Given the description of an element on the screen output the (x, y) to click on. 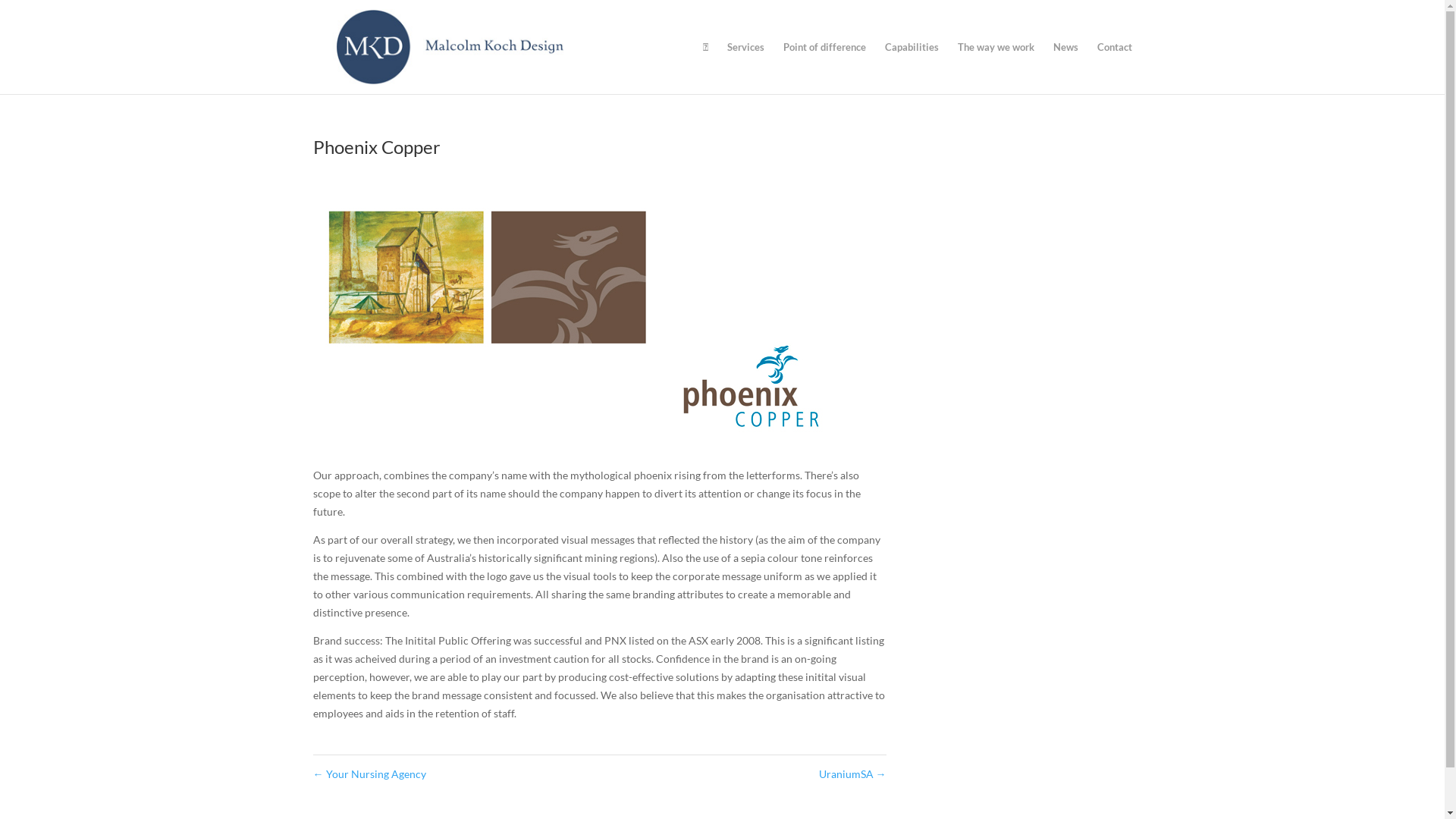
News Element type: text (1064, 67)
Contact Element type: text (1113, 67)
Services Element type: text (744, 67)
The way we work Element type: text (995, 67)
Capabilities Element type: text (911, 67)
Point of difference Element type: text (823, 67)
